Given the description of an element on the screen output the (x, y) to click on. 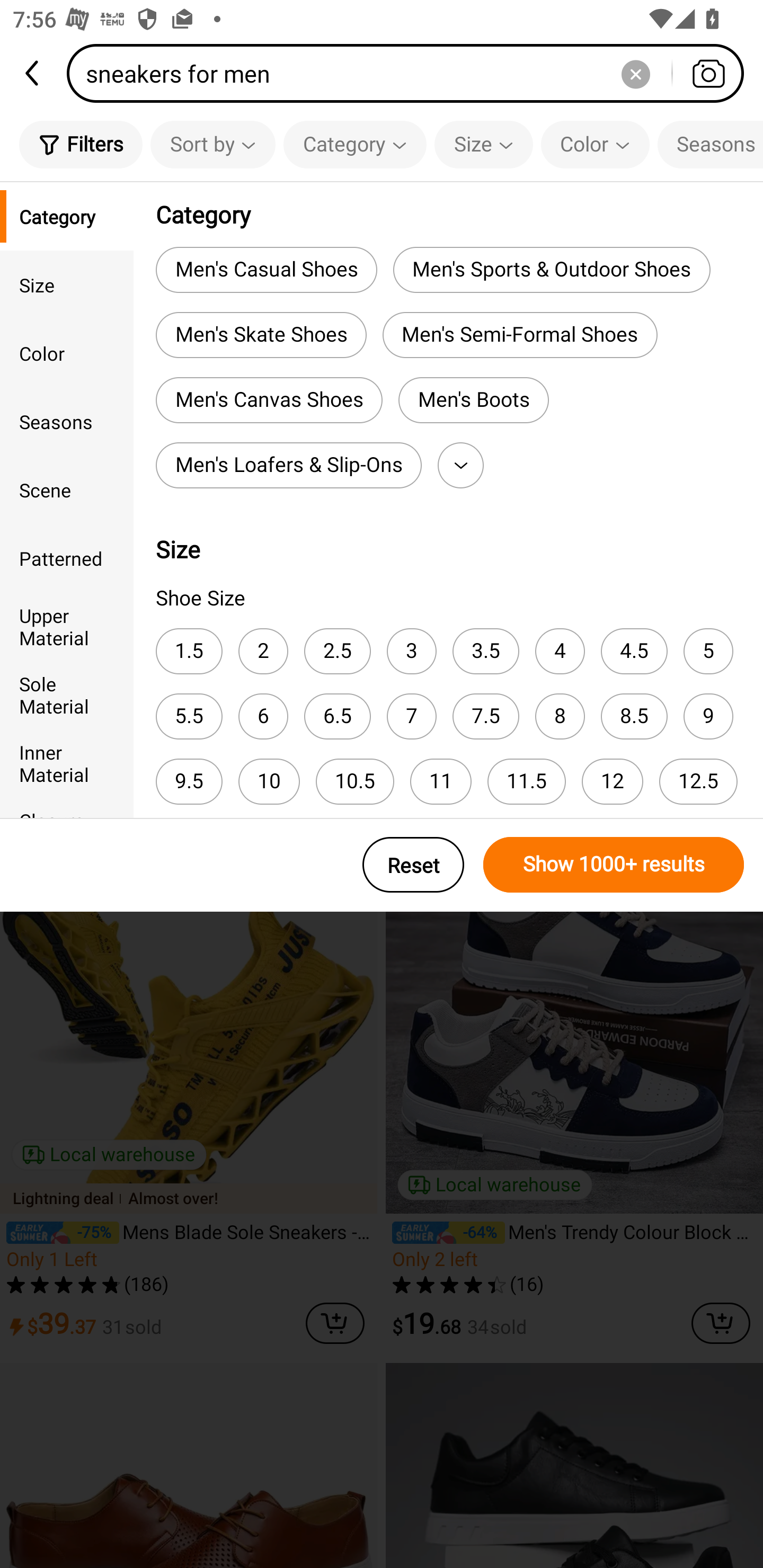
back (33, 72)
sneakers for men (411, 73)
Delete search history (635, 73)
Search by photo (708, 73)
Filters (80, 143)
Sort by (212, 143)
Category (354, 143)
Size (483, 143)
Color (594, 143)
Seasons (710, 143)
Category (66, 215)
Men's Casual Shoes (265, 269)
Men's Sports & Outdoor Shoes (551, 269)
Size (66, 284)
Men's Skate Shoes (261, 334)
Men's Semi-Formal Shoes (519, 334)
Color (66, 352)
Men's Canvas Shoes (268, 400)
Men's Boots (473, 400)
Seasons (66, 421)
Men's Loafers & Slip-Ons (288, 464)
More (460, 464)
Scene (66, 489)
Patterned (66, 557)
Upper Material (66, 626)
1.5 (188, 651)
2 (263, 651)
2.5 (337, 651)
3 (411, 651)
3.5 (485, 651)
4 (559, 651)
4.5 (634, 651)
5 (708, 651)
Sole Material (66, 694)
5.5 (188, 716)
6 (263, 716)
6.5 (337, 716)
7 (411, 716)
7.5 (485, 716)
8 (559, 716)
8.5 (634, 716)
9 (708, 716)
Inner Material (66, 762)
9.5 (188, 781)
10 (268, 781)
10.5 (354, 781)
11 (440, 781)
11.5 (526, 781)
12 (612, 781)
12.5 (698, 781)
Reset (412, 864)
Show 1000+ results (612, 864)
